Given the description of an element on the screen output the (x, y) to click on. 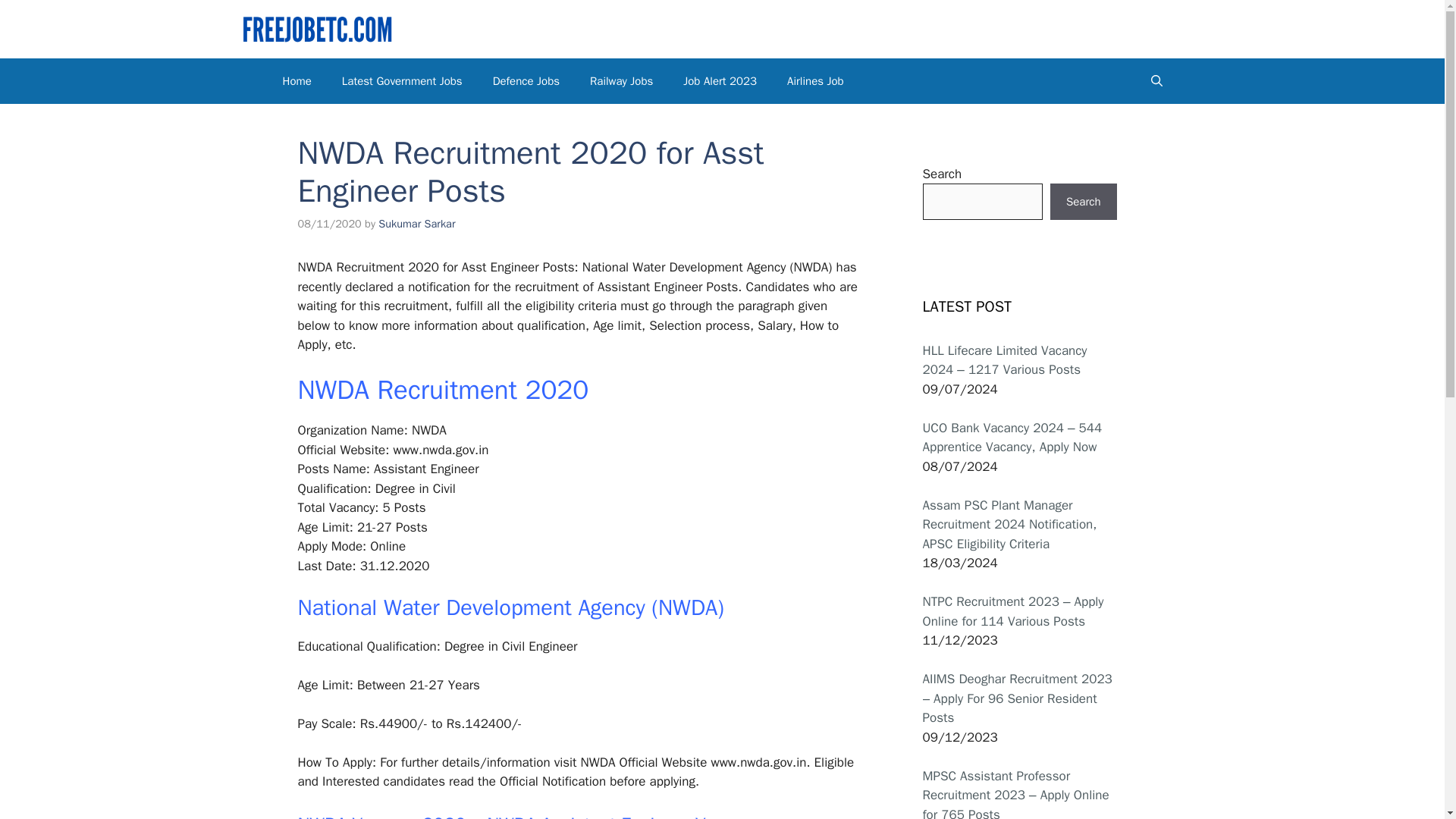
View all posts by Sukumar Sarkar (416, 223)
Latest Government Jobs (401, 81)
Home (296, 81)
Defence Jobs (526, 81)
Job Alert 2023 (719, 81)
Sukumar Sarkar (416, 223)
Airlines Job (815, 81)
Railway Jobs (621, 81)
Search (1082, 201)
